Given the description of an element on the screen output the (x, y) to click on. 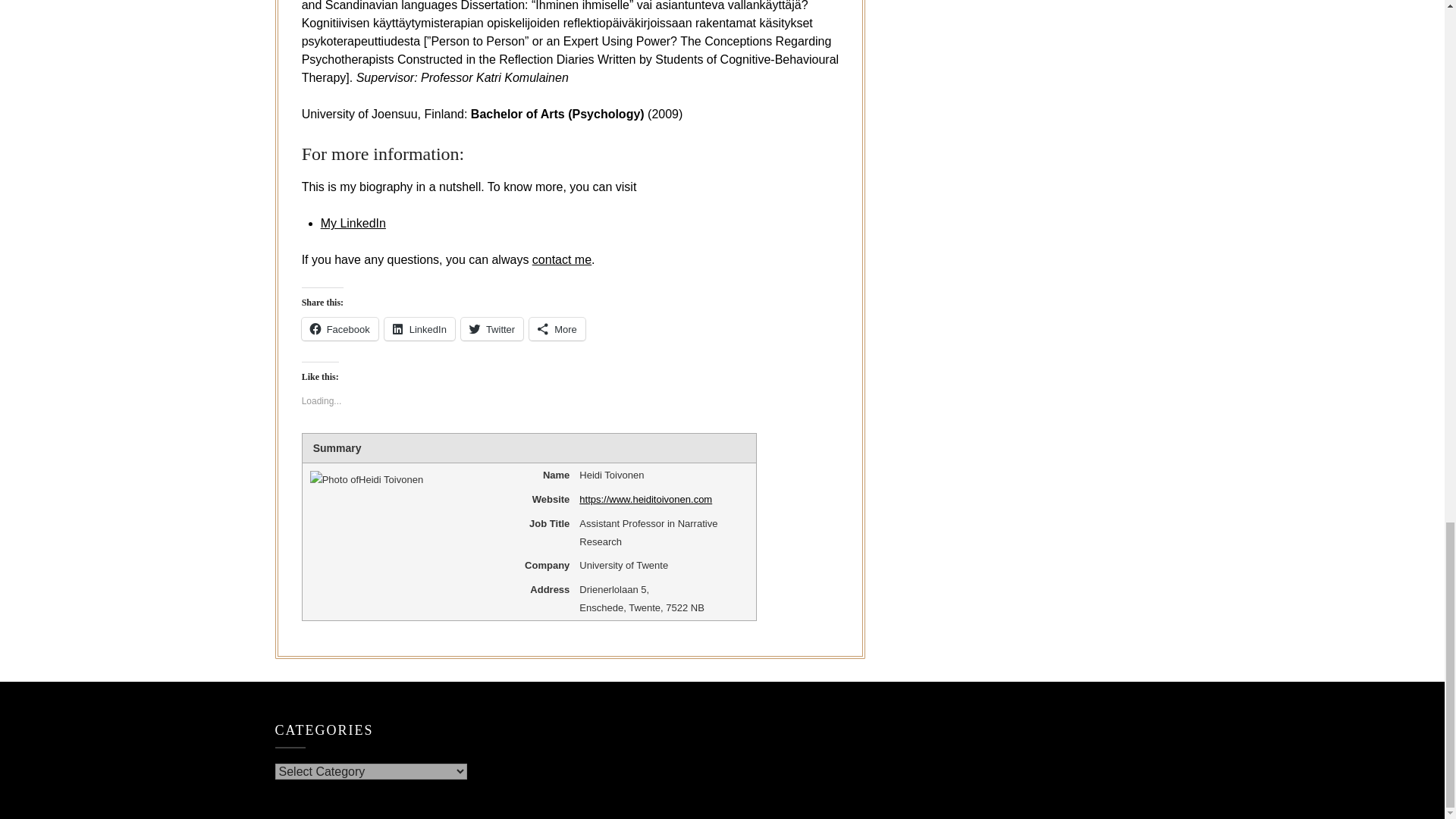
Click to share on Facebook (339, 328)
Facebook (339, 328)
contact me (561, 259)
My LinkedIn (352, 223)
Click to share on LinkedIn (419, 328)
LinkedIn (419, 328)
Twitter (491, 328)
More (557, 328)
Click to share on Twitter (491, 328)
